Given the description of an element on the screen output the (x, y) to click on. 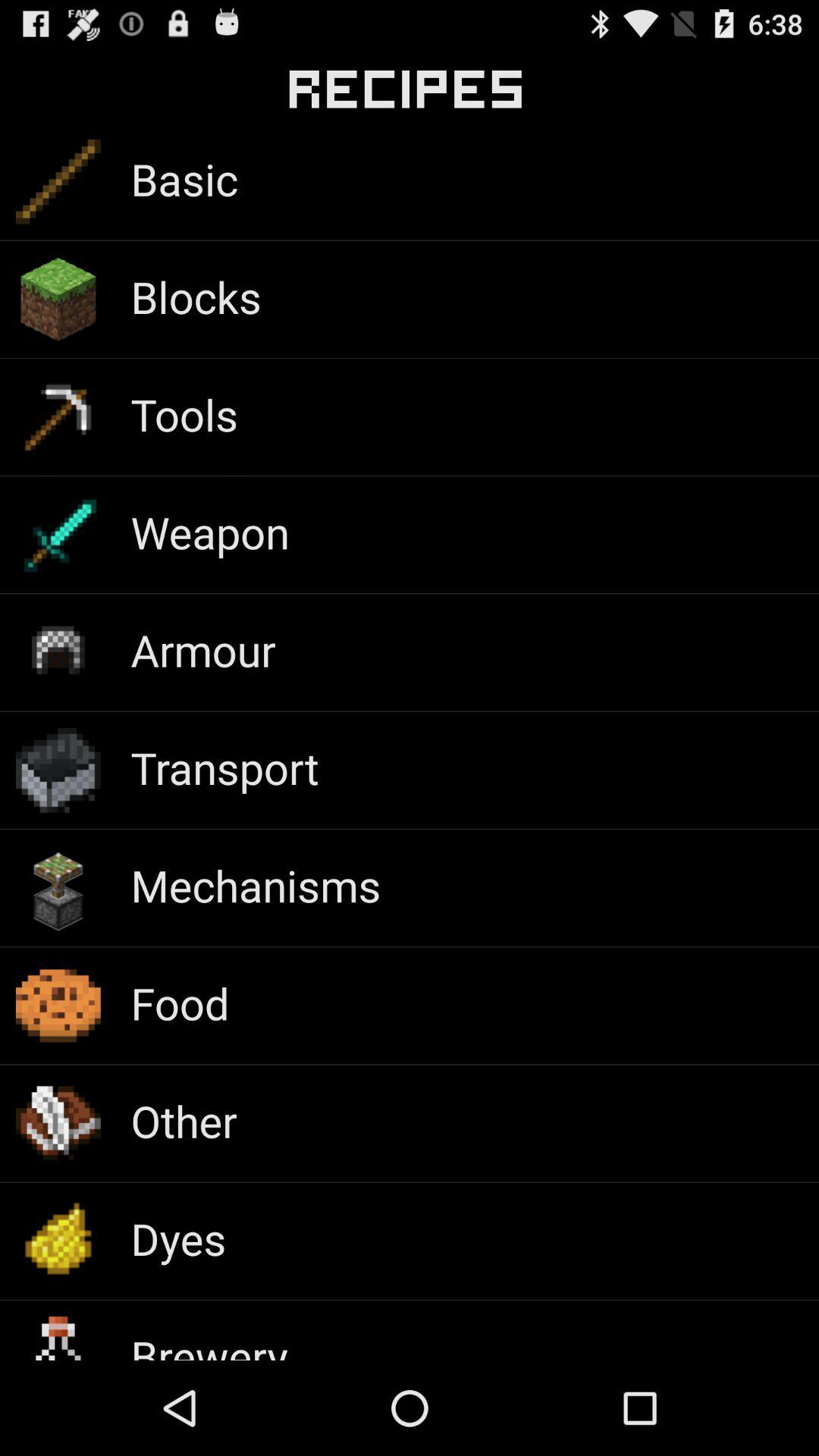
press item below the weapon app (202, 649)
